Given the description of an element on the screen output the (x, y) to click on. 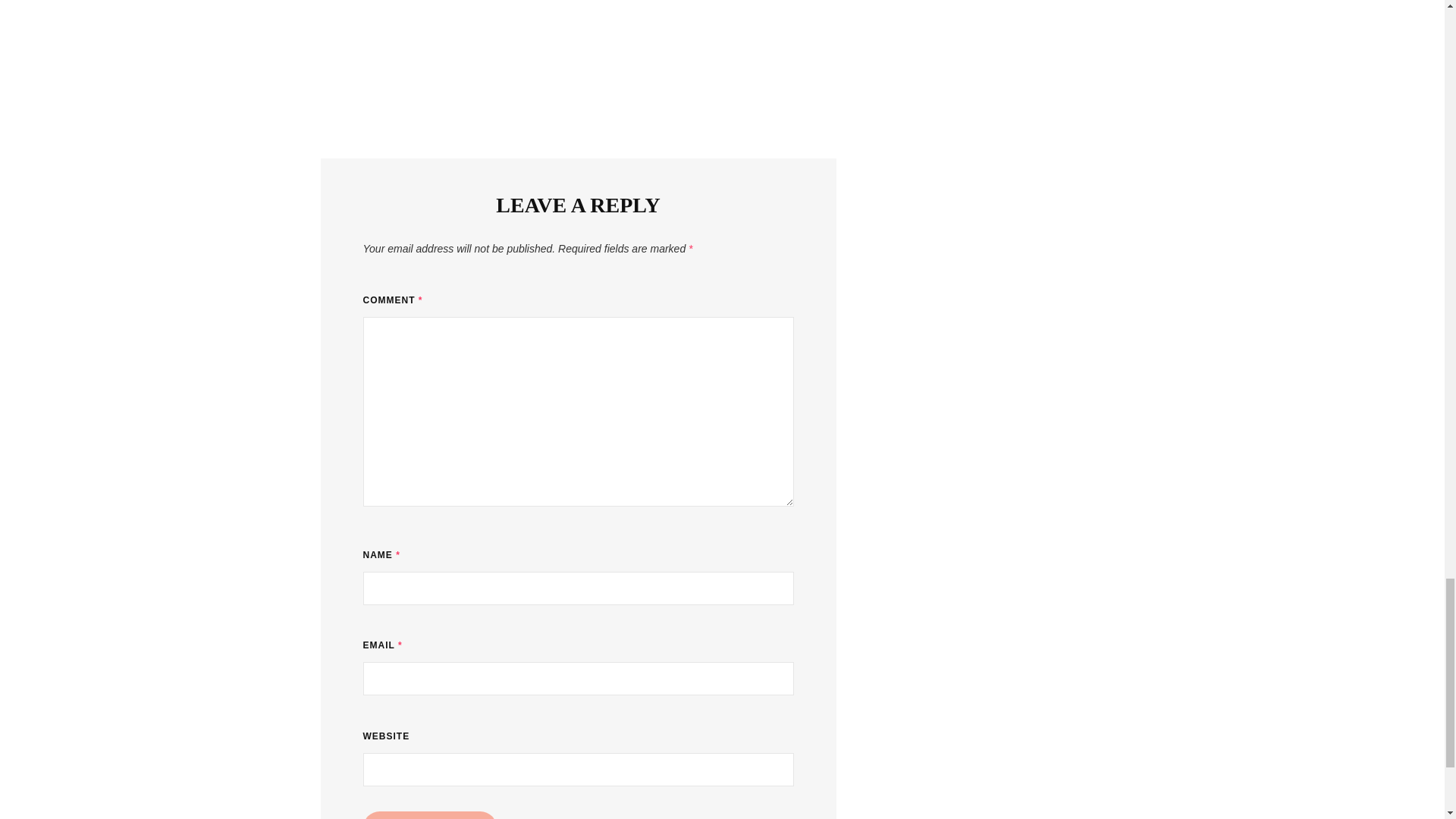
Post Comment (429, 815)
